Given the description of an element on the screen output the (x, y) to click on. 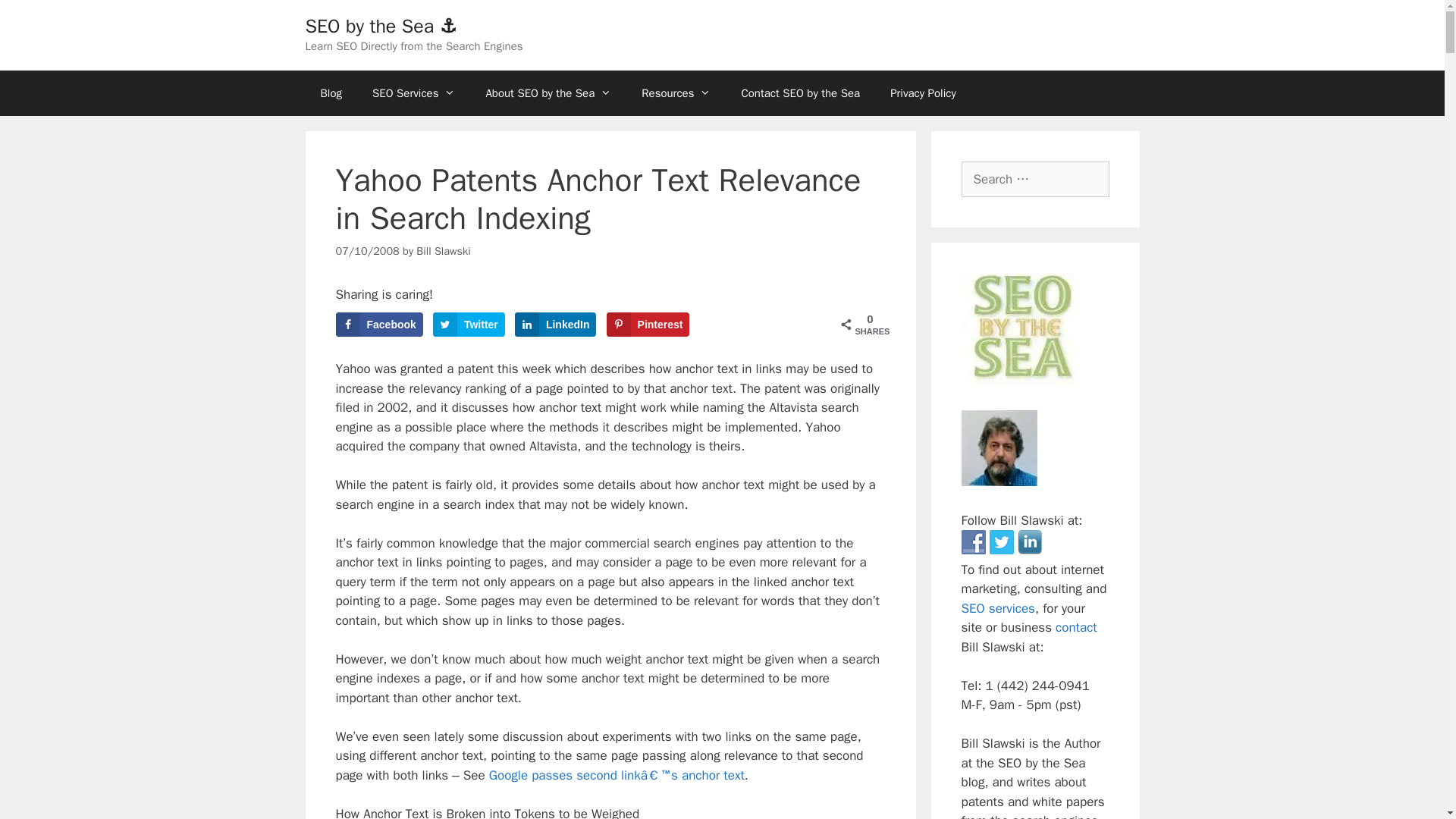
Privacy Policy (923, 92)
SEO Services (413, 92)
Save to Pinterest (648, 324)
Facebook (378, 324)
Follow Us on LinkedIn (1029, 541)
Pinterest (648, 324)
Twitter (468, 324)
Share on Facebook (378, 324)
Search for: (1034, 178)
Resources (675, 92)
Contact SEO by the Sea (800, 92)
View all posts by Bill Slawski (443, 250)
LinkedIn (555, 324)
Share on Twitter (468, 324)
About SEO by the Sea (548, 92)
